Given the description of an element on the screen output the (x, y) to click on. 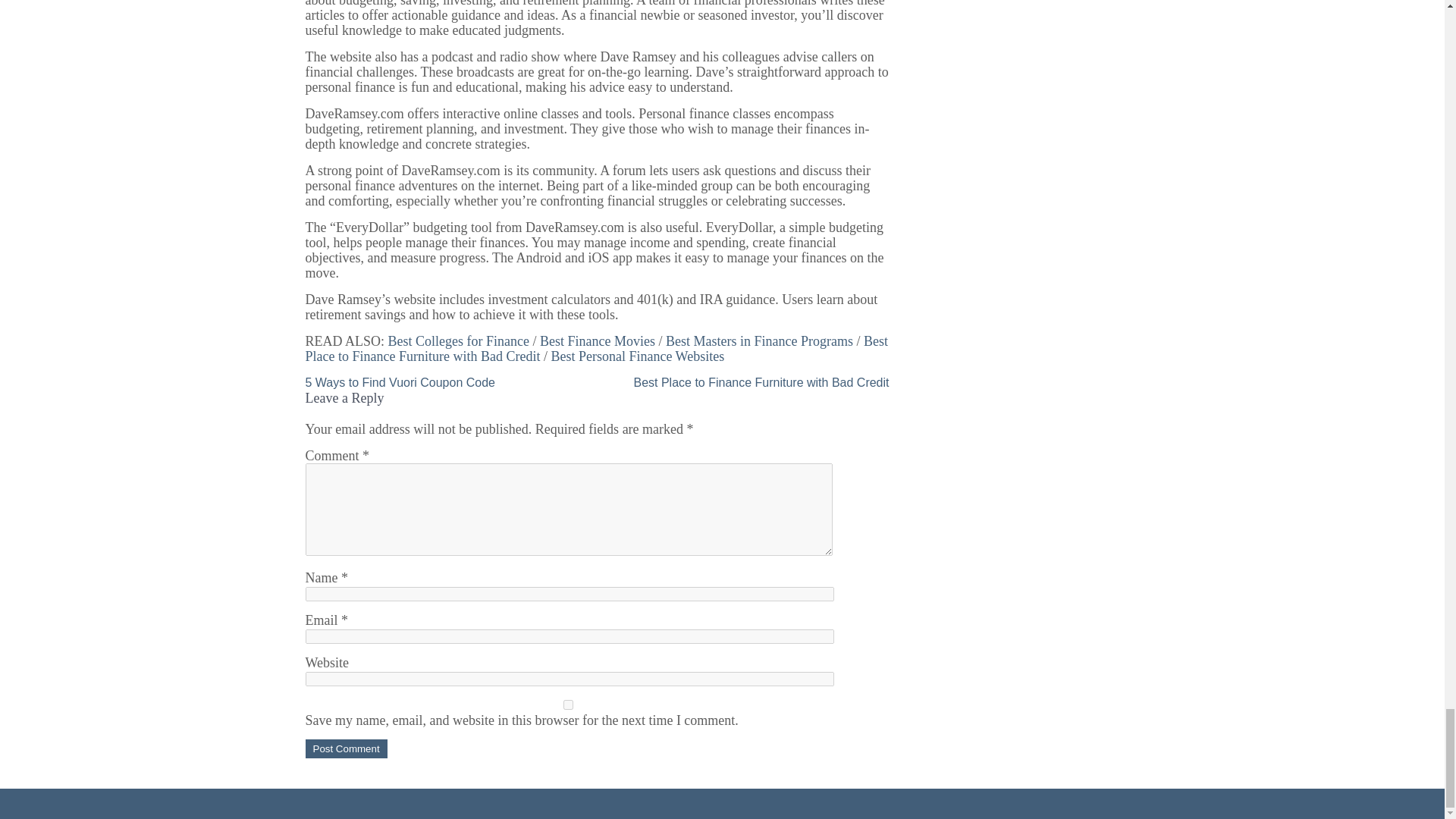
Best Place to Finance Furniture with Bad Credit (760, 382)
yes (566, 705)
Best Place to Finance Furniture with Bad Credit (596, 348)
Best Finance Movies (597, 340)
Best Personal Finance Websites (636, 355)
5 Ways to Find Vuori Coupon Code (399, 382)
Post Comment (345, 748)
Best Masters in Finance Programs (759, 340)
Post Comment (345, 748)
Best Colleges for Finance (458, 340)
